Given the description of an element on the screen output the (x, y) to click on. 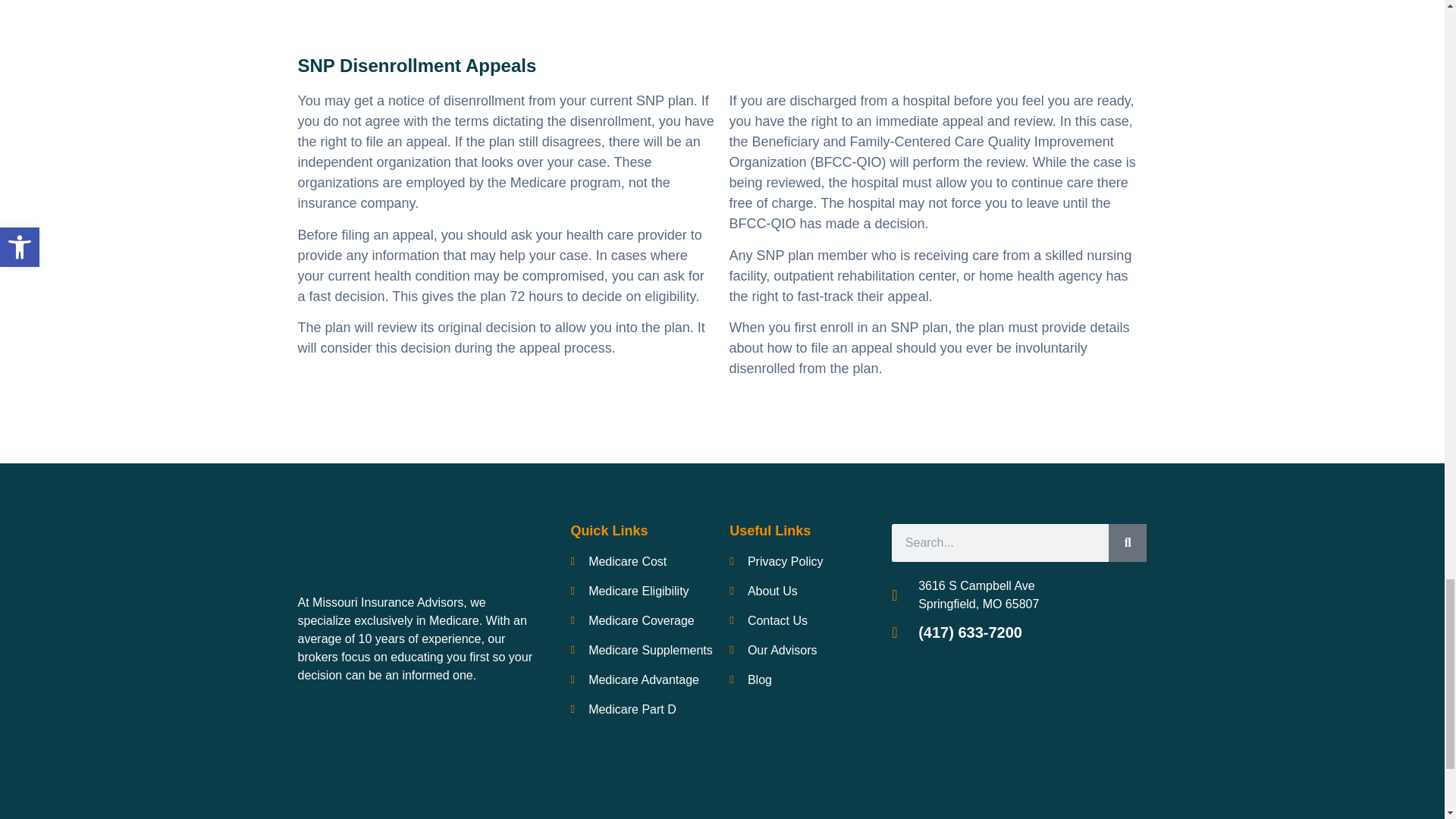
Best Health Insurance Agencies of Springfield MO (353, 764)
